Given the description of an element on the screen output the (x, y) to click on. 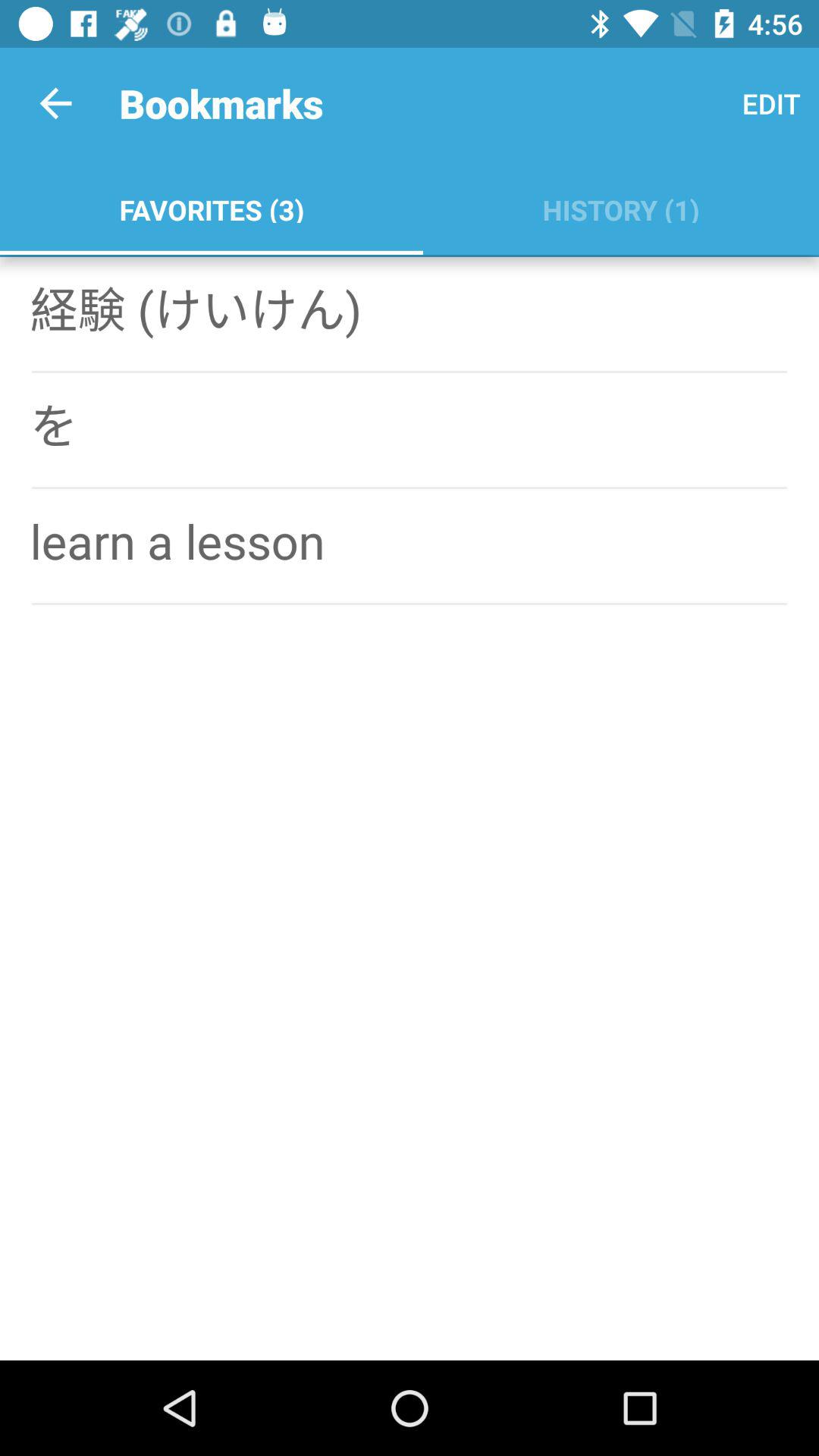
jump to the history (1) icon (621, 206)
